Given the description of an element on the screen output the (x, y) to click on. 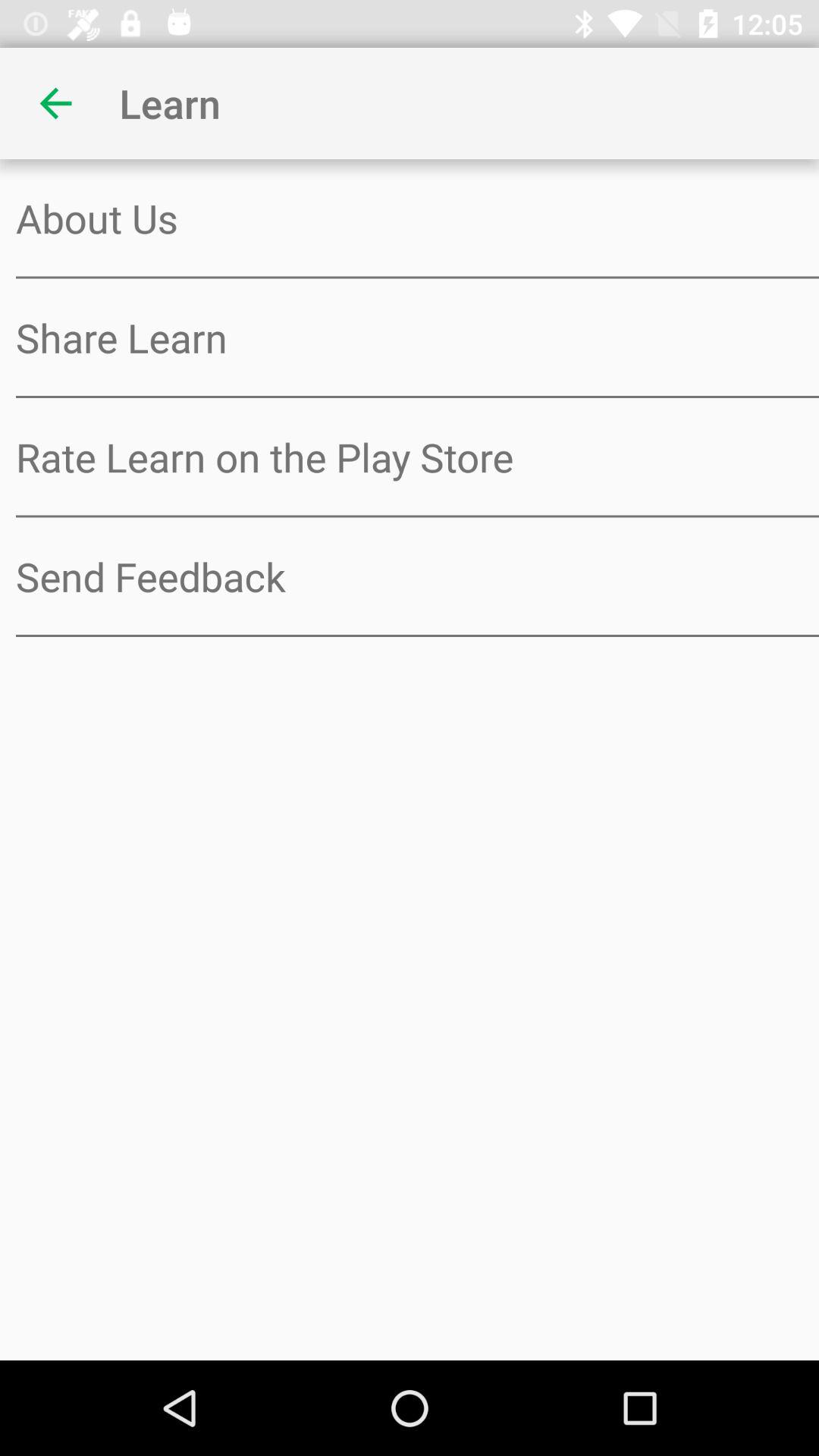
press item above about us item (55, 103)
